Given the description of an element on the screen output the (x, y) to click on. 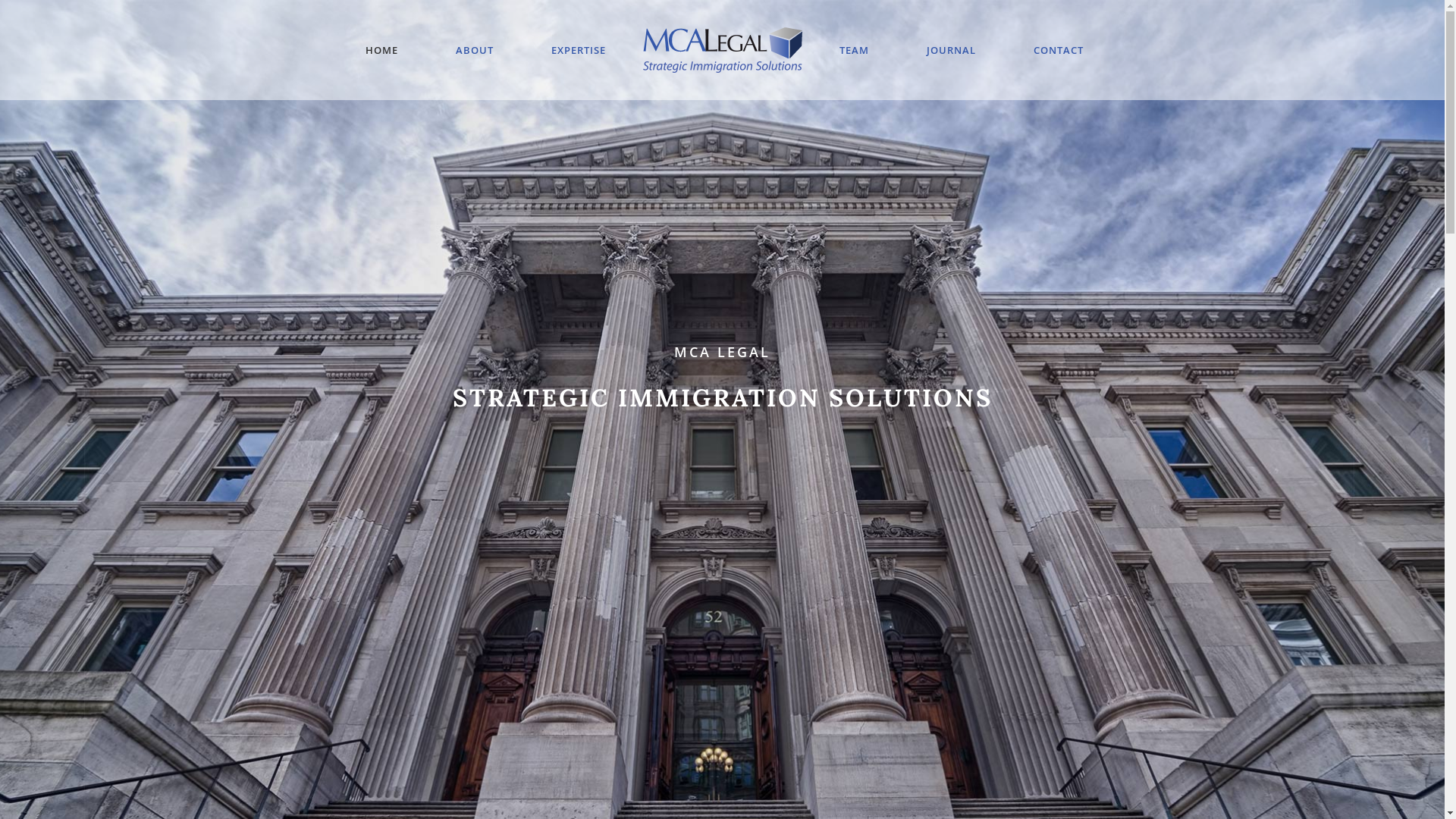
CONTACT Element type: text (1057, 50)
TEAM Element type: text (853, 50)
EXPERTISE Element type: text (577, 50)
HOME Element type: text (381, 50)
JOURNAL Element type: text (950, 50)
ABOUT Element type: text (473, 50)
